Given the description of an element on the screen output the (x, y) to click on. 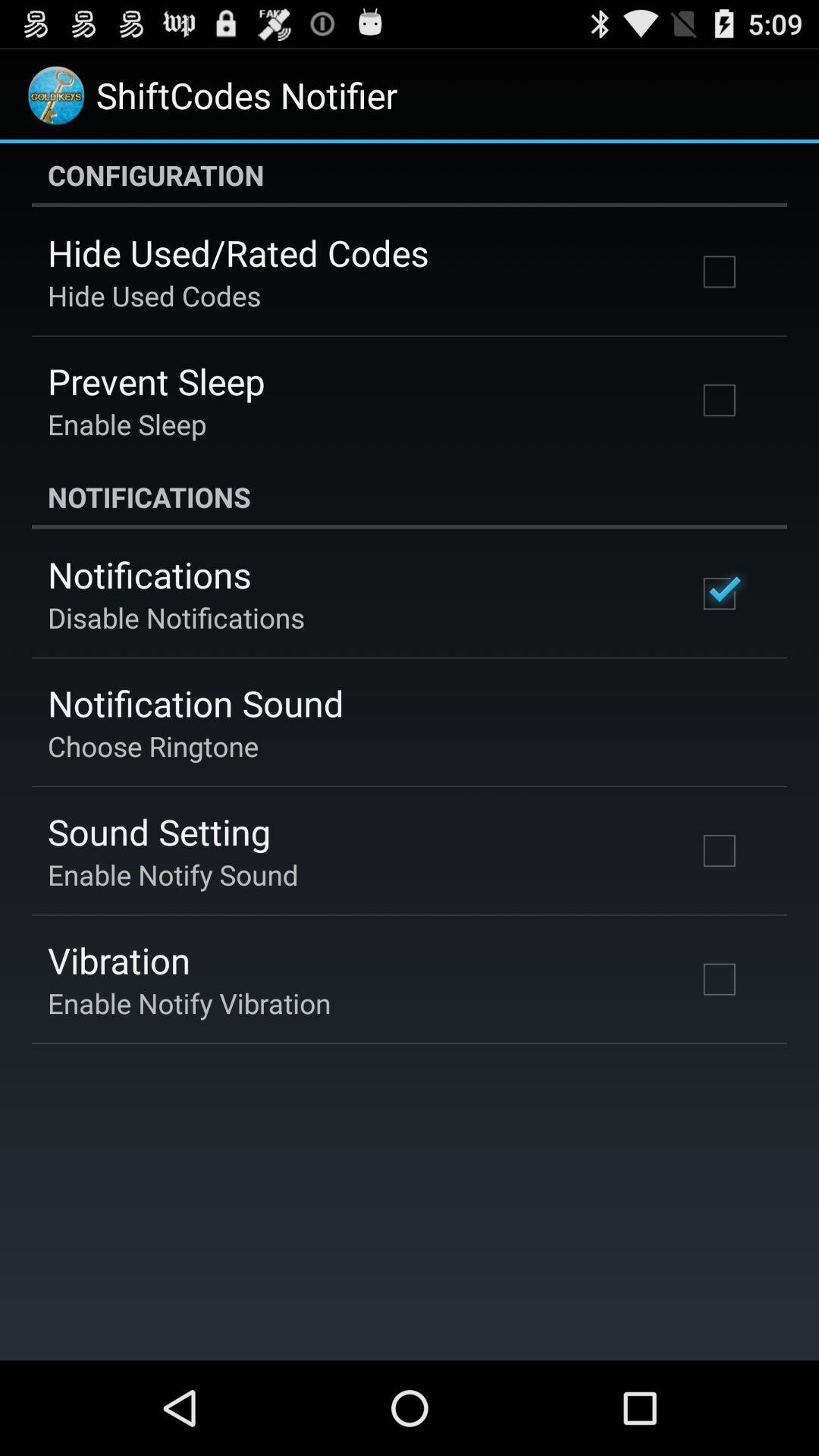
scroll to disable notifications app (175, 617)
